Given the description of an element on the screen output the (x, y) to click on. 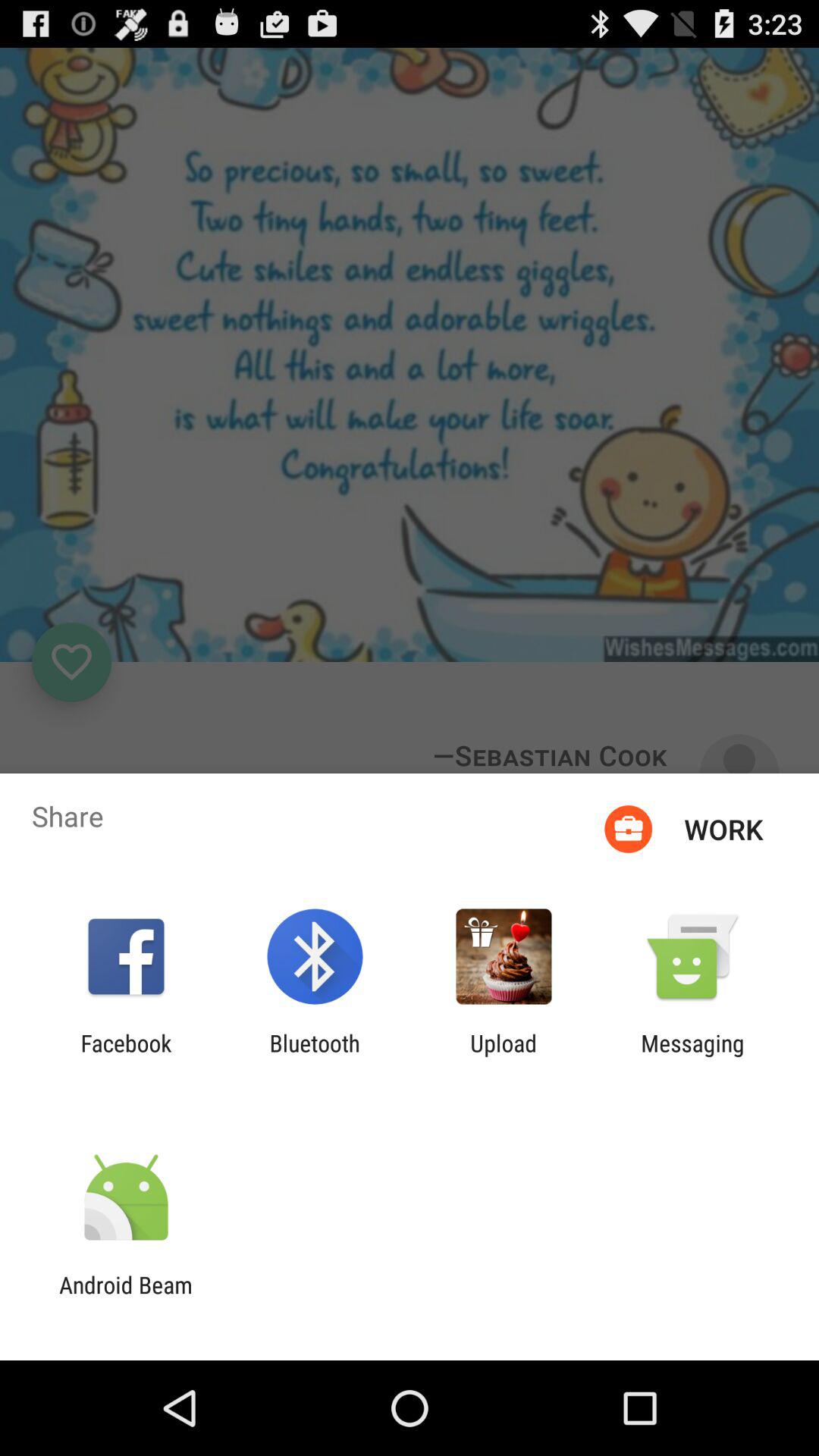
turn on the icon next to bluetooth item (125, 1056)
